Given the description of an element on the screen output the (x, y) to click on. 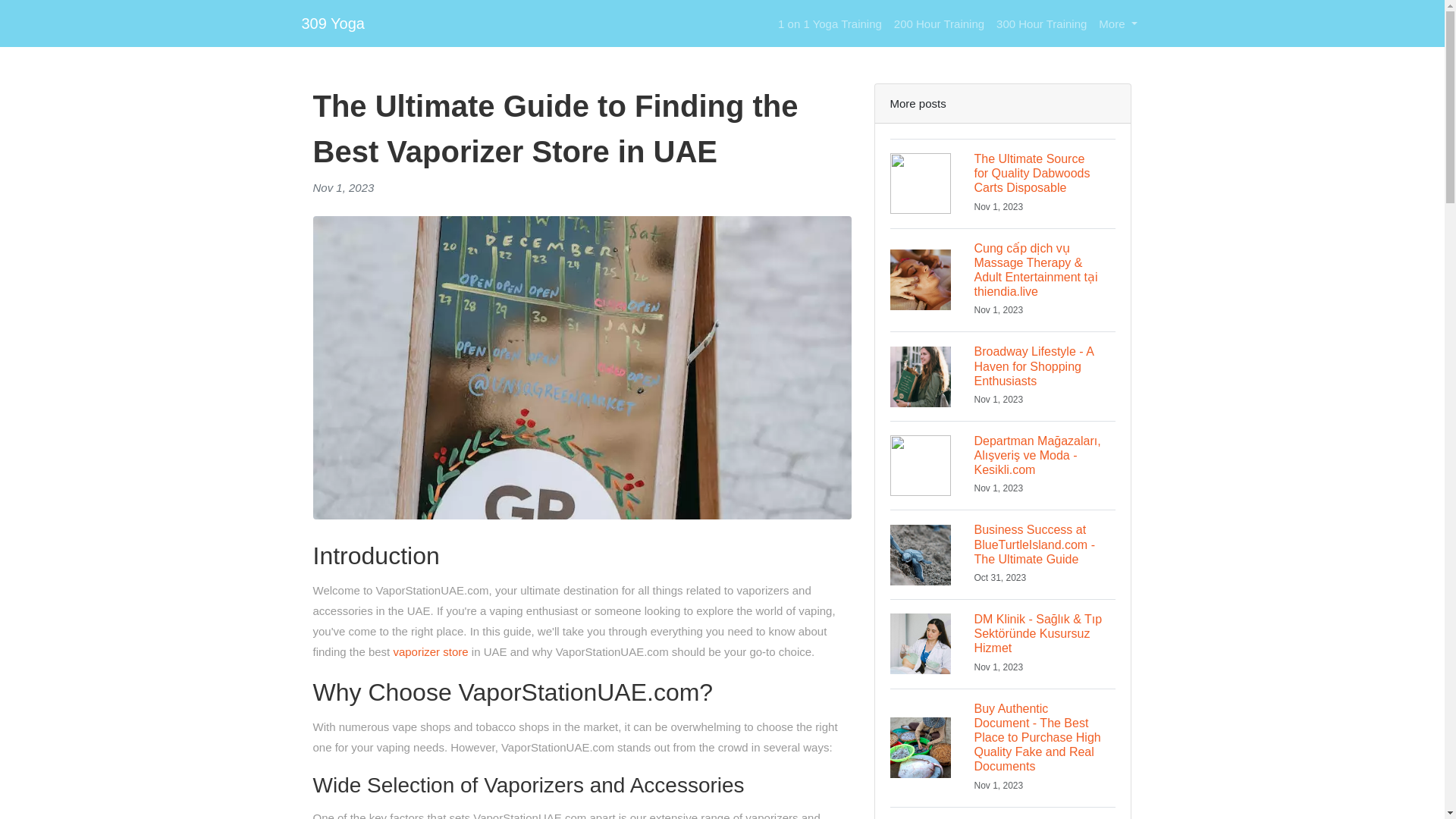
300 Hour Training (1041, 23)
1 on 1 Yoga Training (829, 23)
200 Hour Training (939, 23)
More (1117, 23)
309 Yoga (333, 22)
vaporizer store (430, 651)
